Given the description of an element on the screen output the (x, y) to click on. 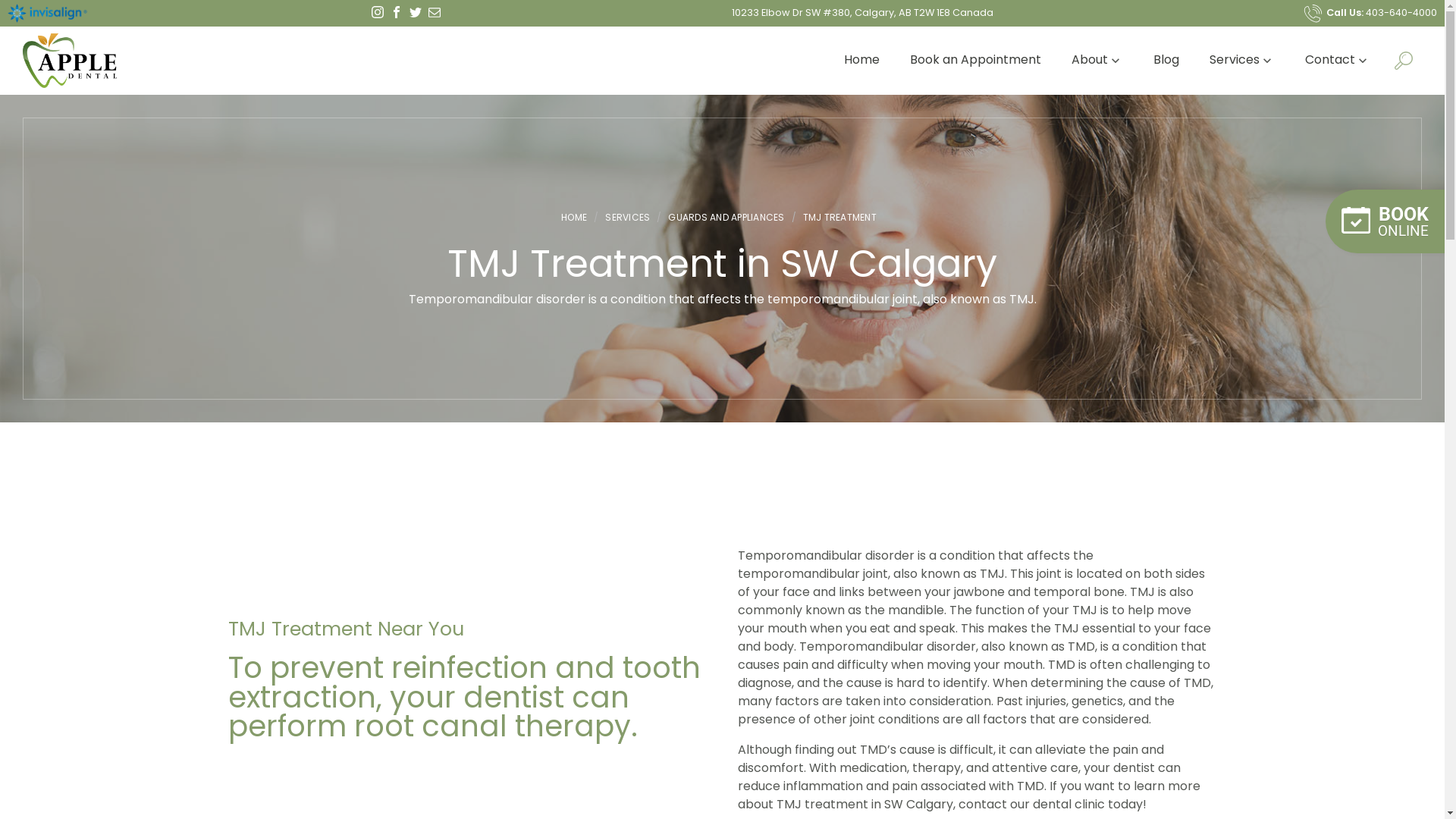
Call Us: 403-640-4000 Element type: text (1370, 12)
About Element type: text (1097, 60)
Book an Appointment Element type: text (975, 60)
10233 Elbow Dr SW #380, Calgary, AB T2W 1E8 Canada Element type: text (861, 12)
Blog Element type: text (1166, 60)
HOME Element type: text (577, 217)
TMJ TREATMENT Element type: text (839, 217)
SERVICES Element type: text (627, 217)
GUARDS AND APPLIANCES Element type: text (725, 217)
Contact Element type: text (1337, 60)
Home Element type: text (861, 60)
Services Element type: text (1241, 60)
